Given the description of an element on the screen output the (x, y) to click on. 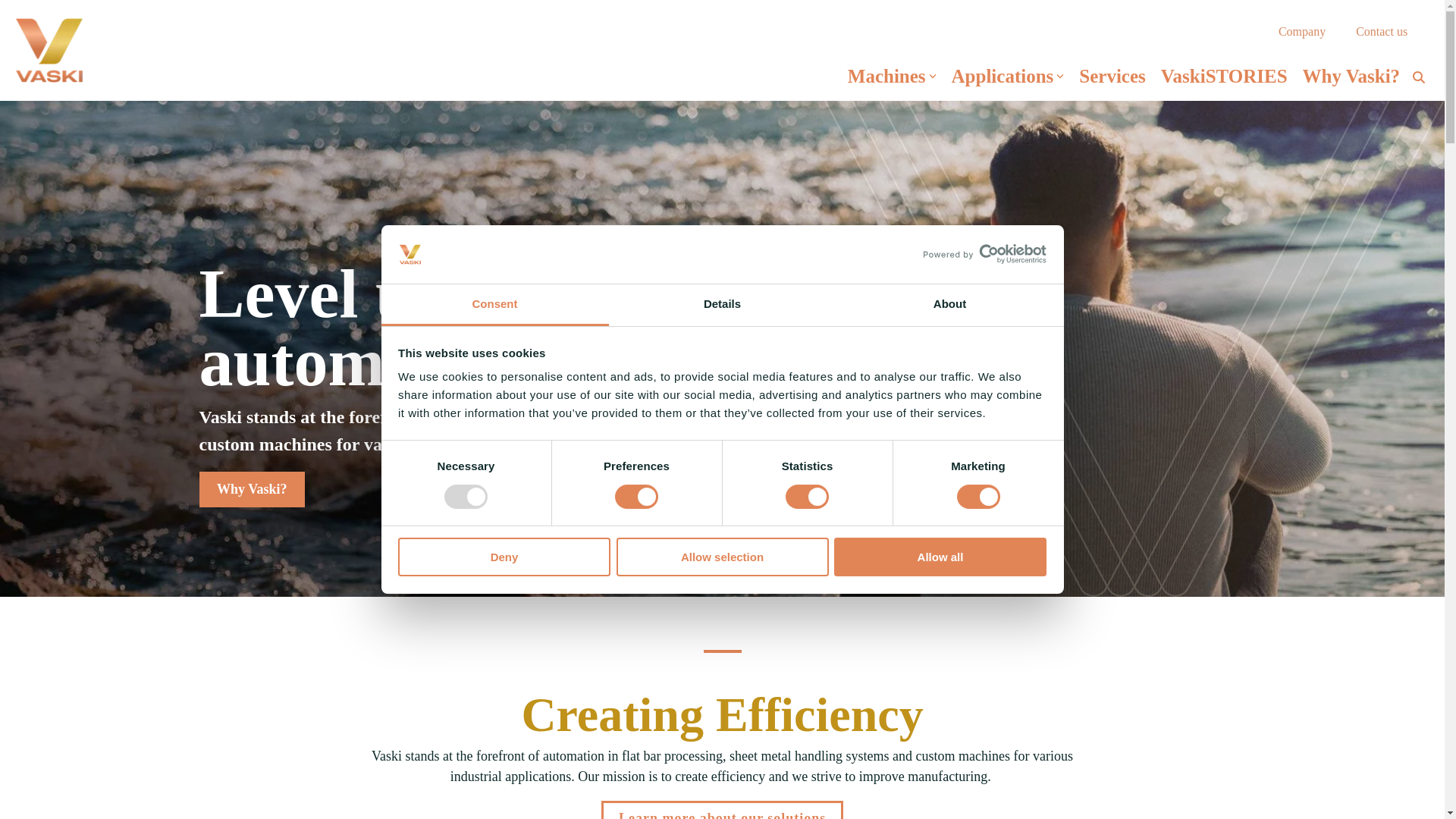
Deny (503, 556)
Allow all (940, 556)
vaski-group-logo (49, 49)
Consent (494, 305)
About (948, 305)
Allow selection (721, 556)
Details (721, 305)
